Given the description of an element on the screen output the (x, y) to click on. 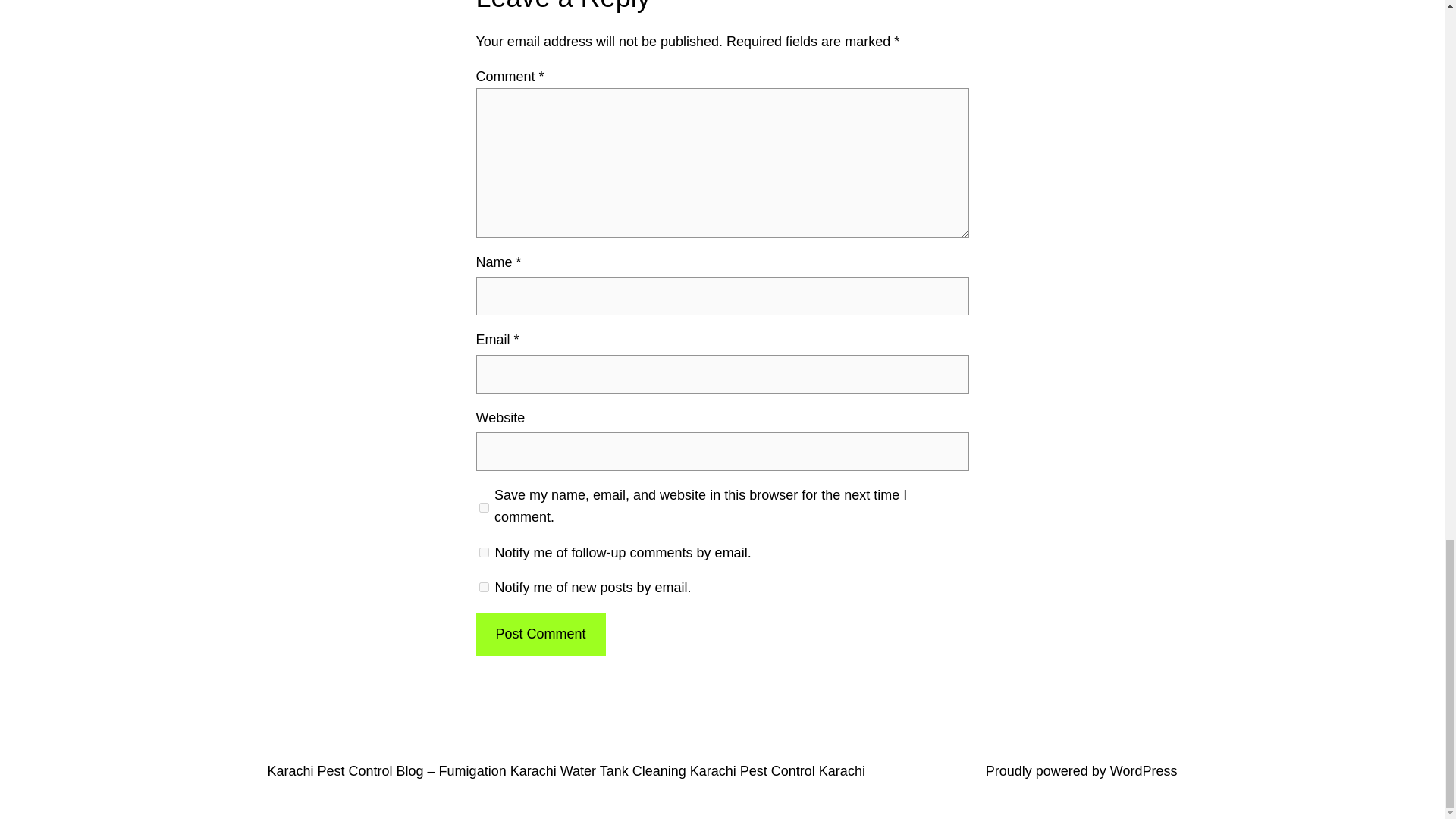
subscribe (484, 552)
subscribe (484, 587)
Post Comment (540, 634)
Post Comment (540, 634)
WordPress (1143, 770)
